Given the description of an element on the screen output the (x, y) to click on. 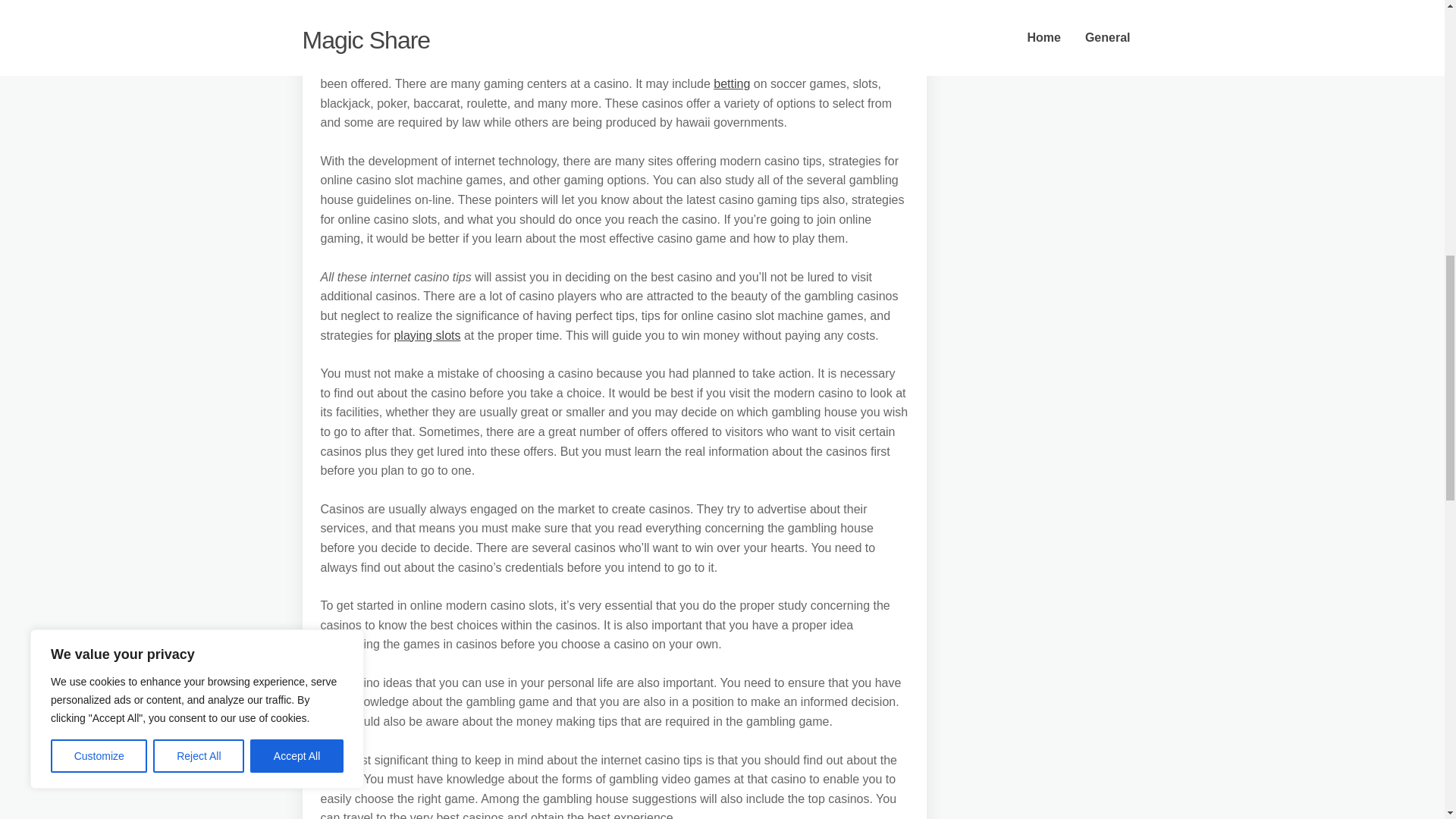
playing slots (426, 335)
betting (731, 83)
